Given the description of an element on the screen output the (x, y) to click on. 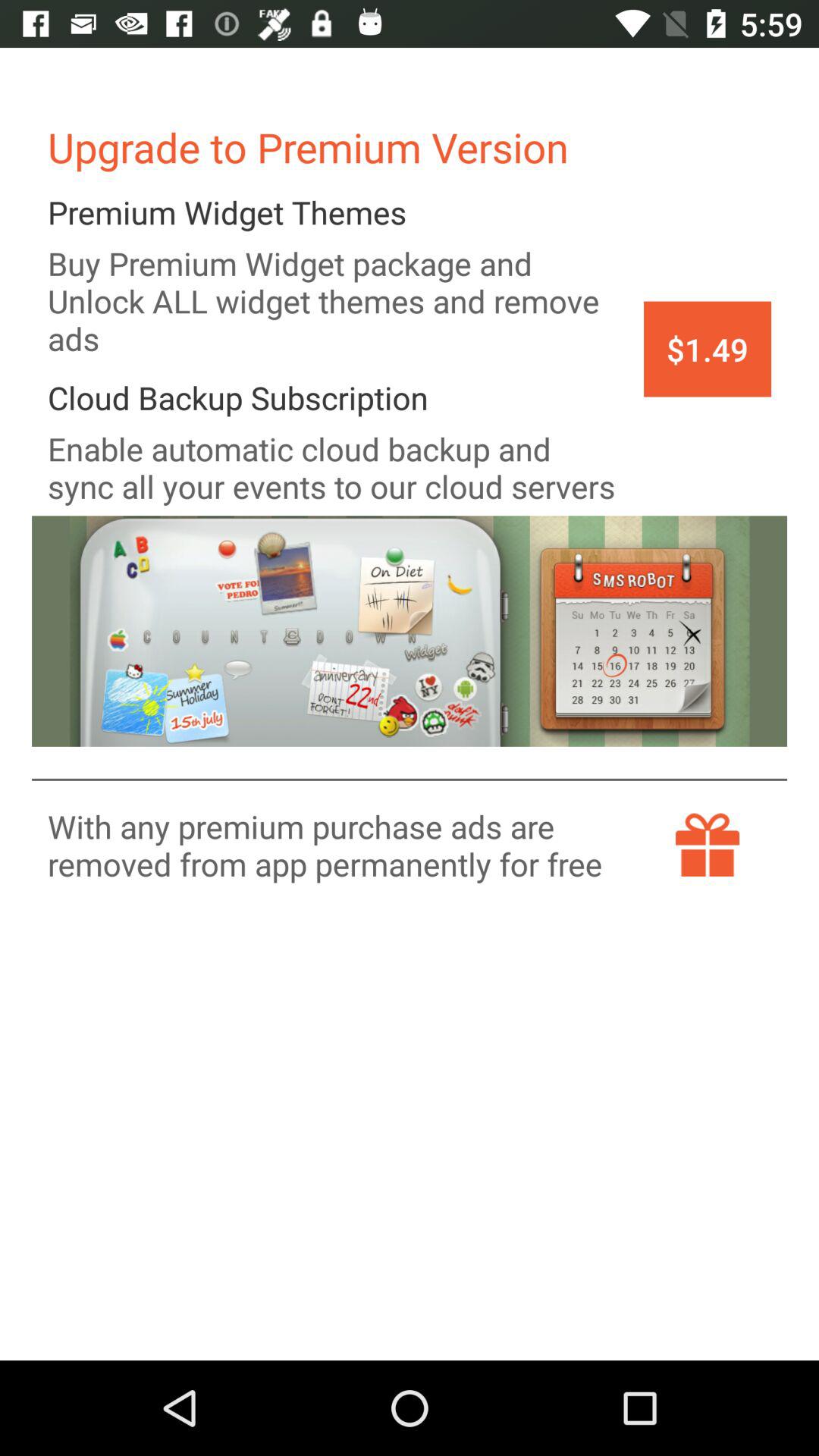
tap the icon next to the buy premium widget icon (707, 348)
